Given the description of an element on the screen output the (x, y) to click on. 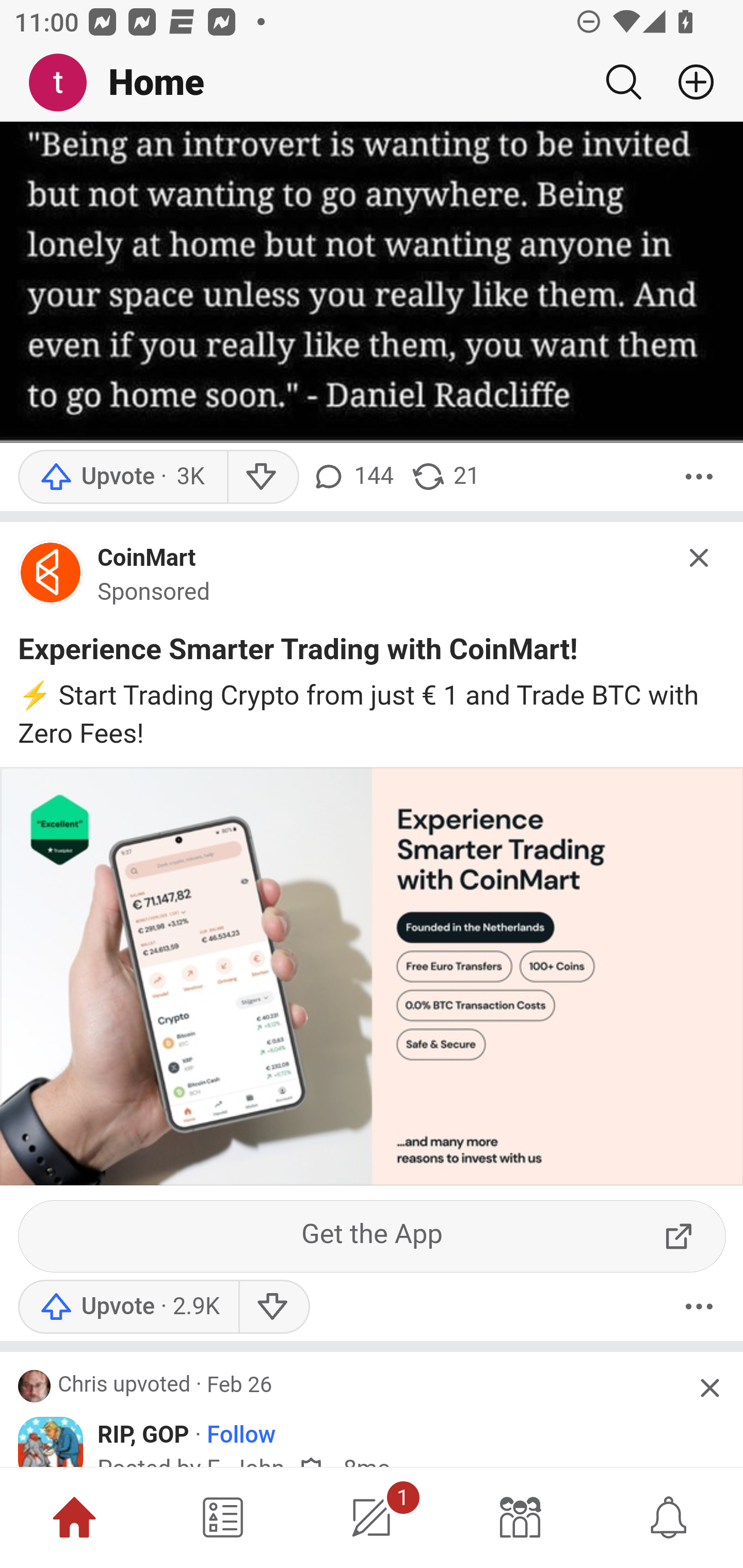
Me (64, 83)
Search (623, 82)
Add (688, 82)
Upvote (122, 476)
Downvote (262, 476)
144 comments (355, 476)
21 shares (444, 476)
More (699, 476)
Hide (699, 557)
main-qimg-8807c8a0d662434e6bcbf097b9c441d6 (50, 576)
CoinMart (146, 558)
Sponsored (154, 591)
Experience Smarter Trading with CoinMart! (297, 652)
Get the App ExternalLink (372, 1236)
Upvote (127, 1305)
Downvote (273, 1305)
More (699, 1305)
Hide (709, 1388)
Profile photo for Chris Harrington (34, 1385)
Icon for RIP, GOP (50, 1442)
RIP, GOP (143, 1433)
Follow (240, 1434)
1 (371, 1517)
